Given the description of an element on the screen output the (x, y) to click on. 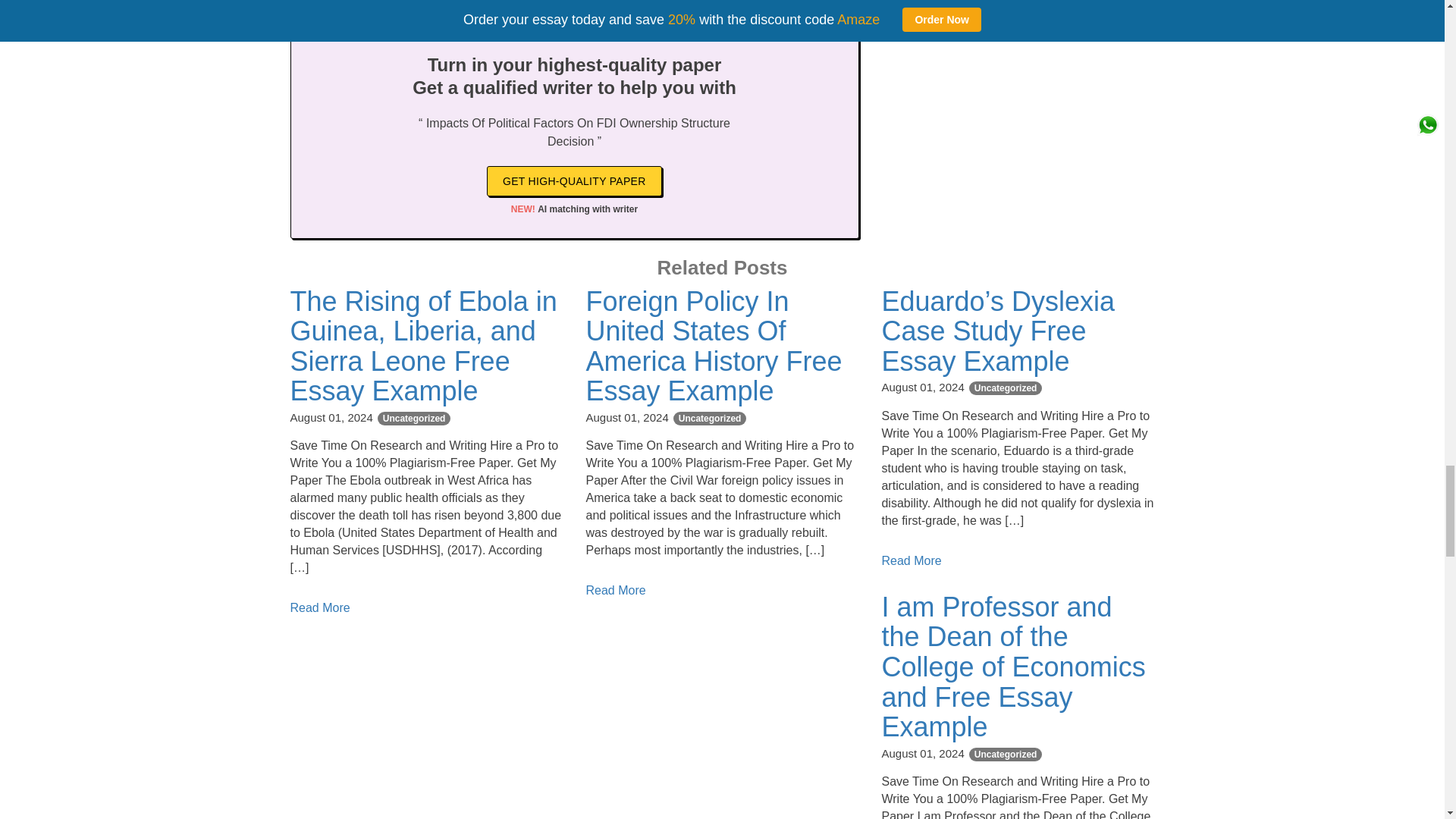
GET HIGH-QUALITY PAPER (574, 181)
Uncategorized (709, 418)
Read More (319, 607)
Read More (910, 560)
Uncategorized (414, 418)
Read More (615, 590)
Uncategorized (1005, 754)
